Given the description of an element on the screen output the (x, y) to click on. 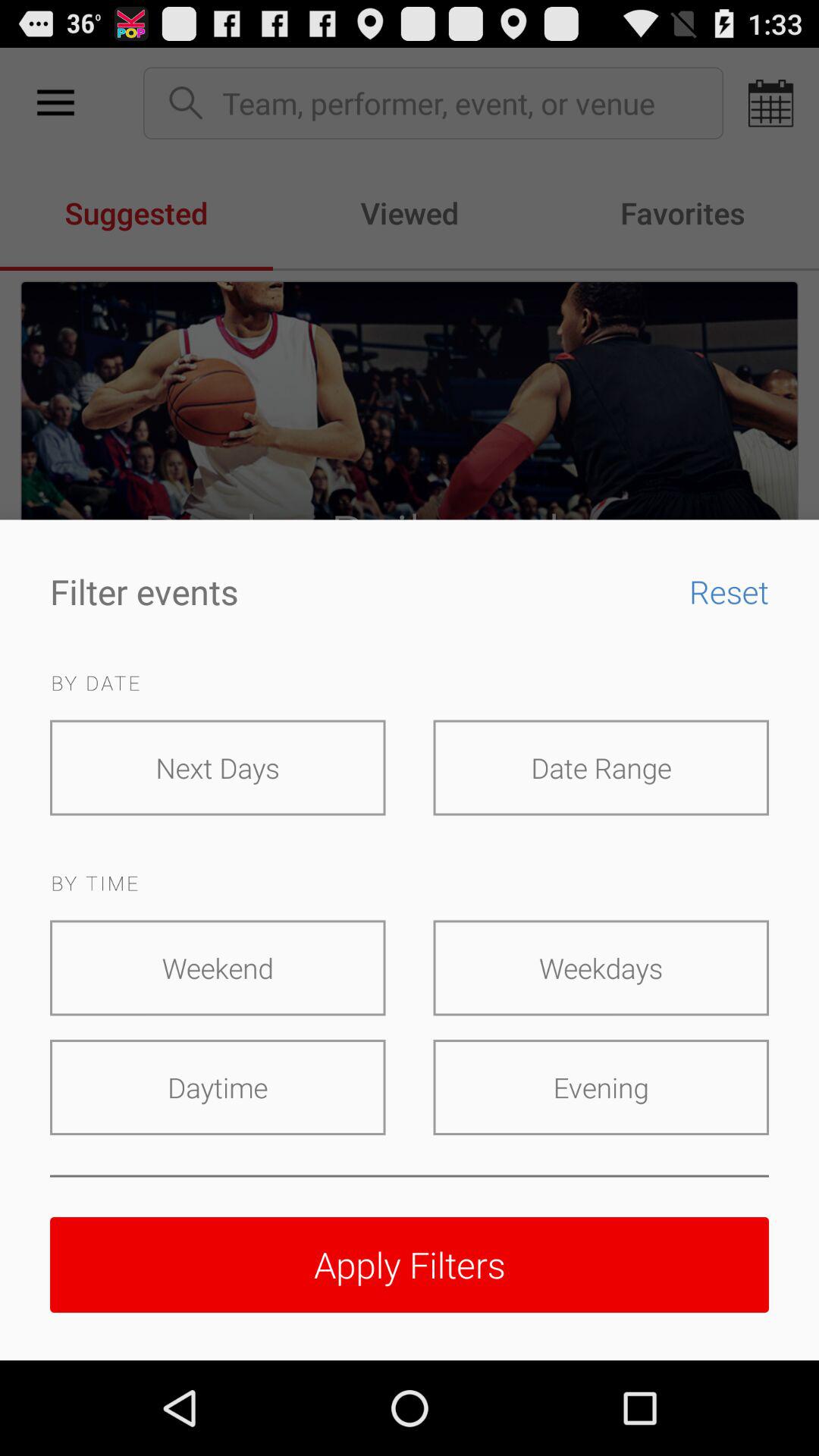
click the item next to weekdays icon (217, 967)
